Given the description of an element on the screen output the (x, y) to click on. 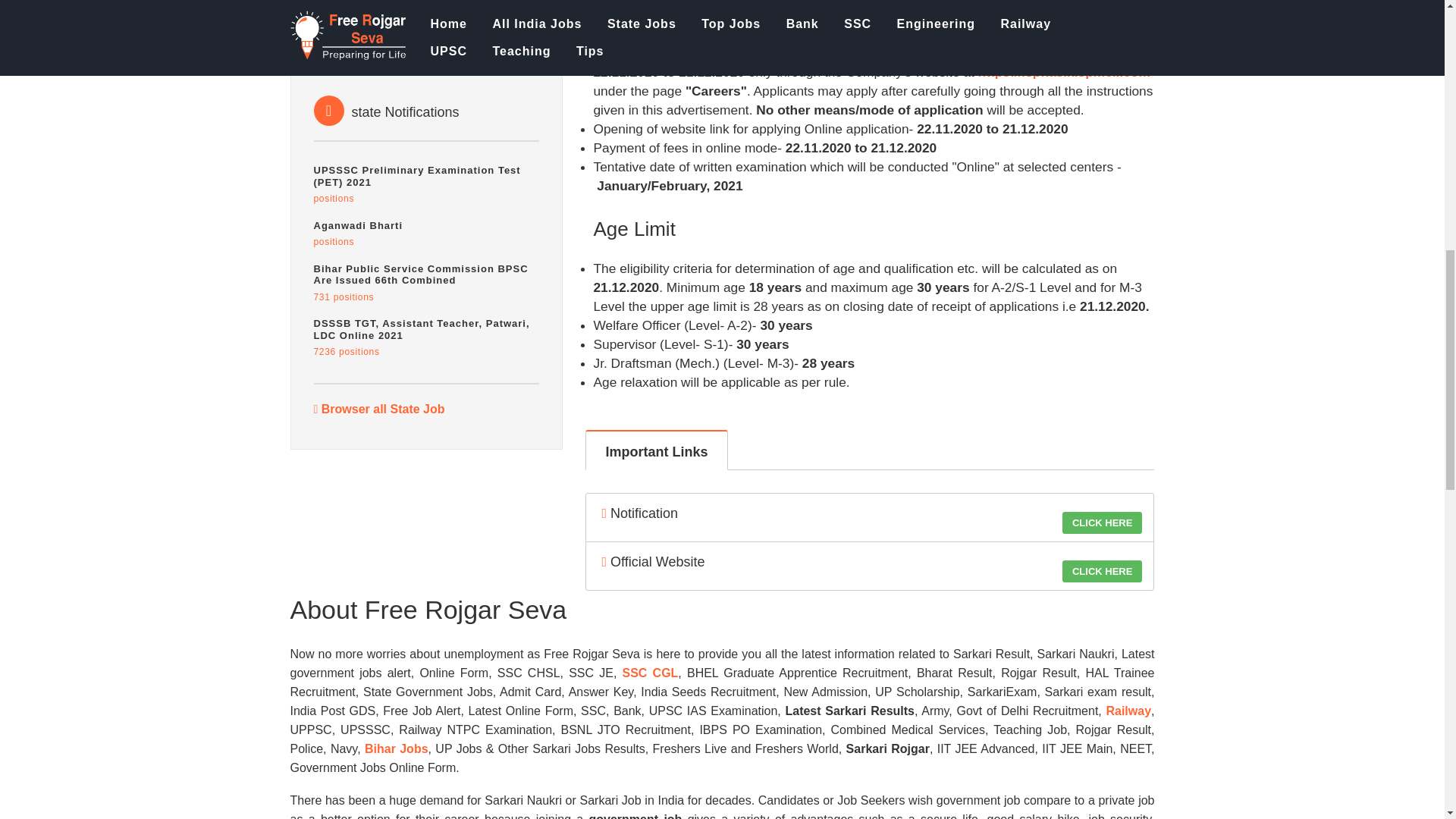
Browser all State Job (379, 408)
Browser all Notifications (427, 234)
